Given the description of an element on the screen output the (x, y) to click on. 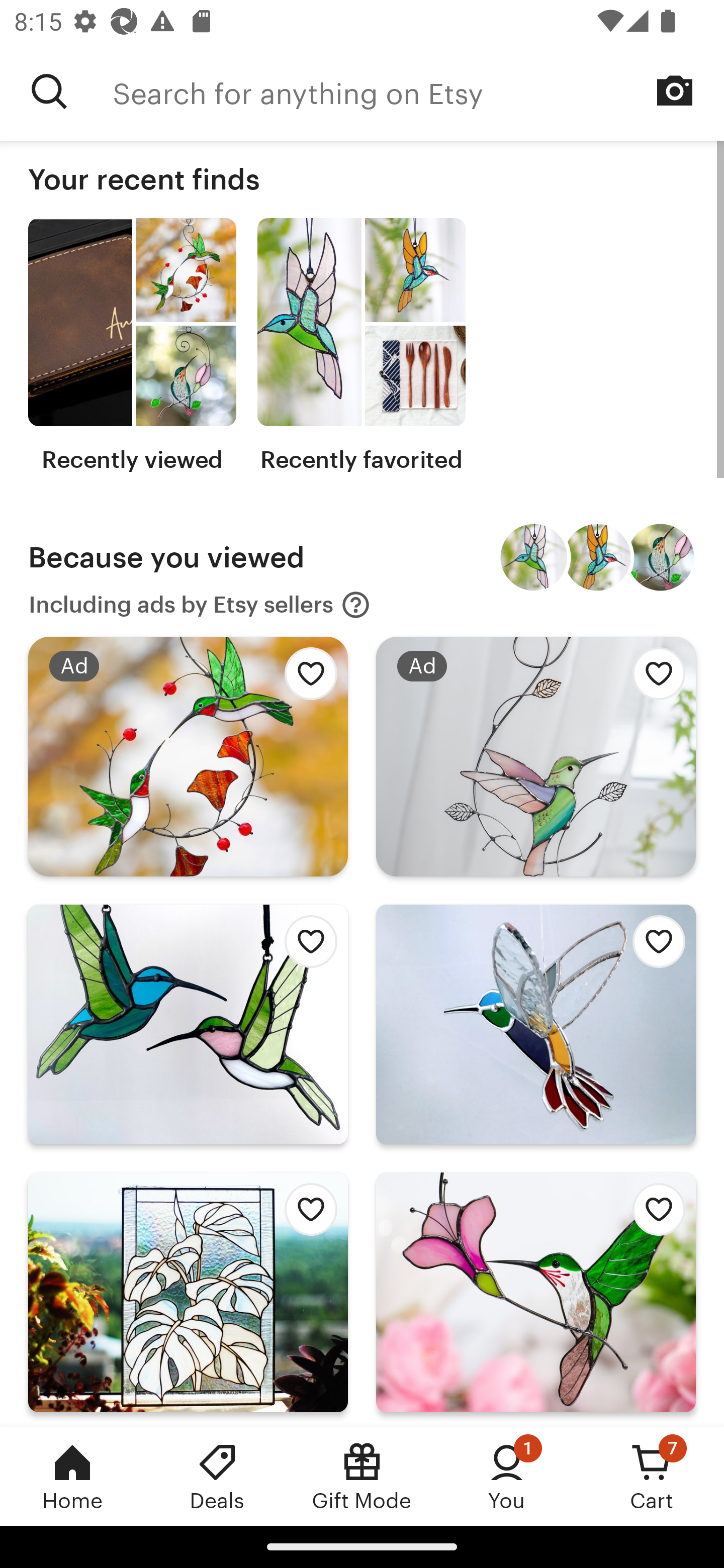
Search for anything on Etsy (49, 91)
Search by image (674, 90)
Search for anything on Etsy (418, 91)
Recently viewed (132, 345)
Recently favorited (361, 345)
Including ads by Etsy sellers (199, 604)
Deals (216, 1475)
Gift Mode (361, 1475)
You, 1 new notification You (506, 1475)
Cart, 7 new notifications Cart (651, 1475)
